Given the description of an element on the screen output the (x, y) to click on. 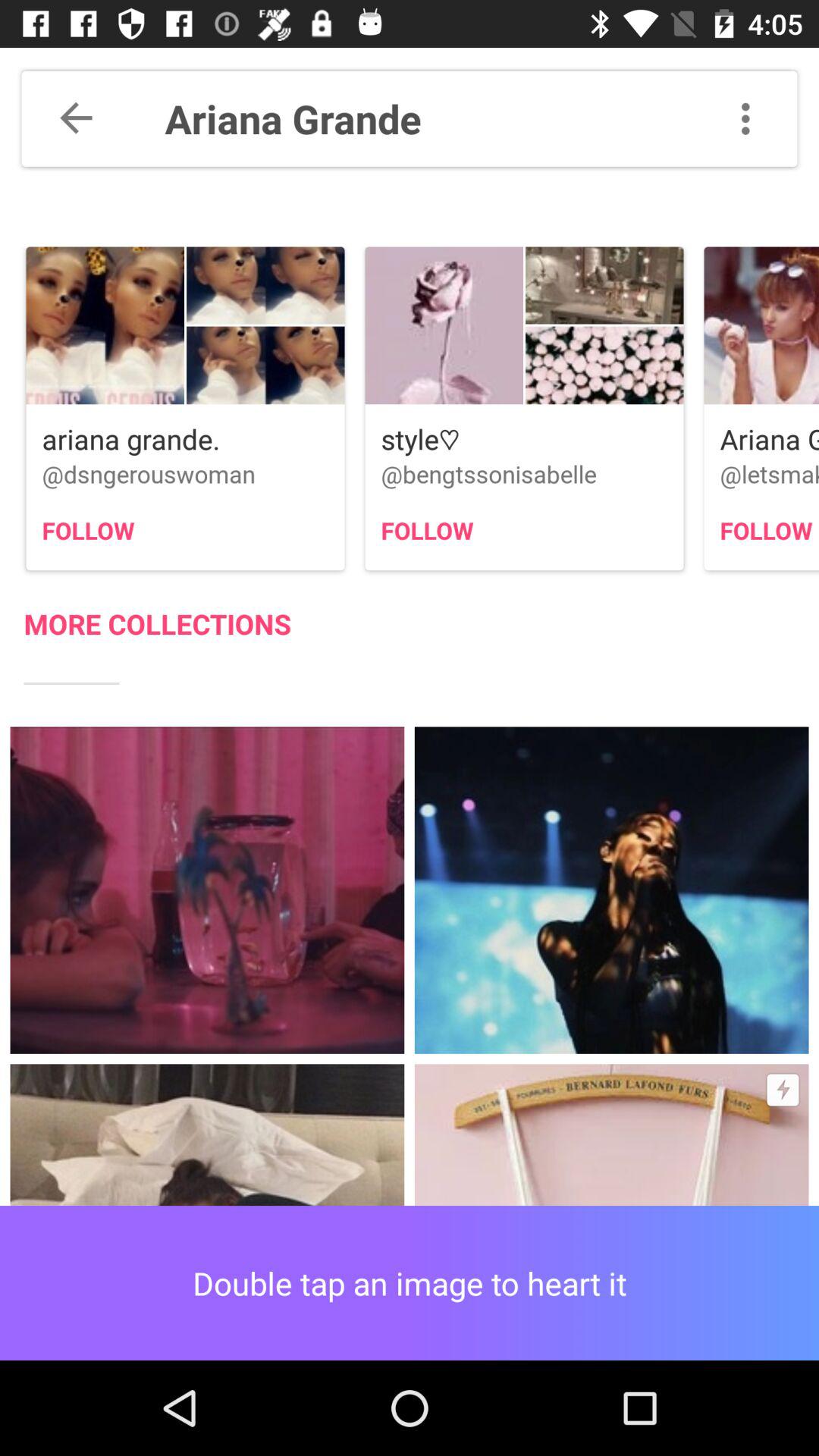
select the image below three dots (761, 325)
select the third image below the ariana grande (761, 408)
go to second image in the first option (265, 285)
click on the image third line second image (611, 890)
